Given the description of an element on the screen output the (x, y) to click on. 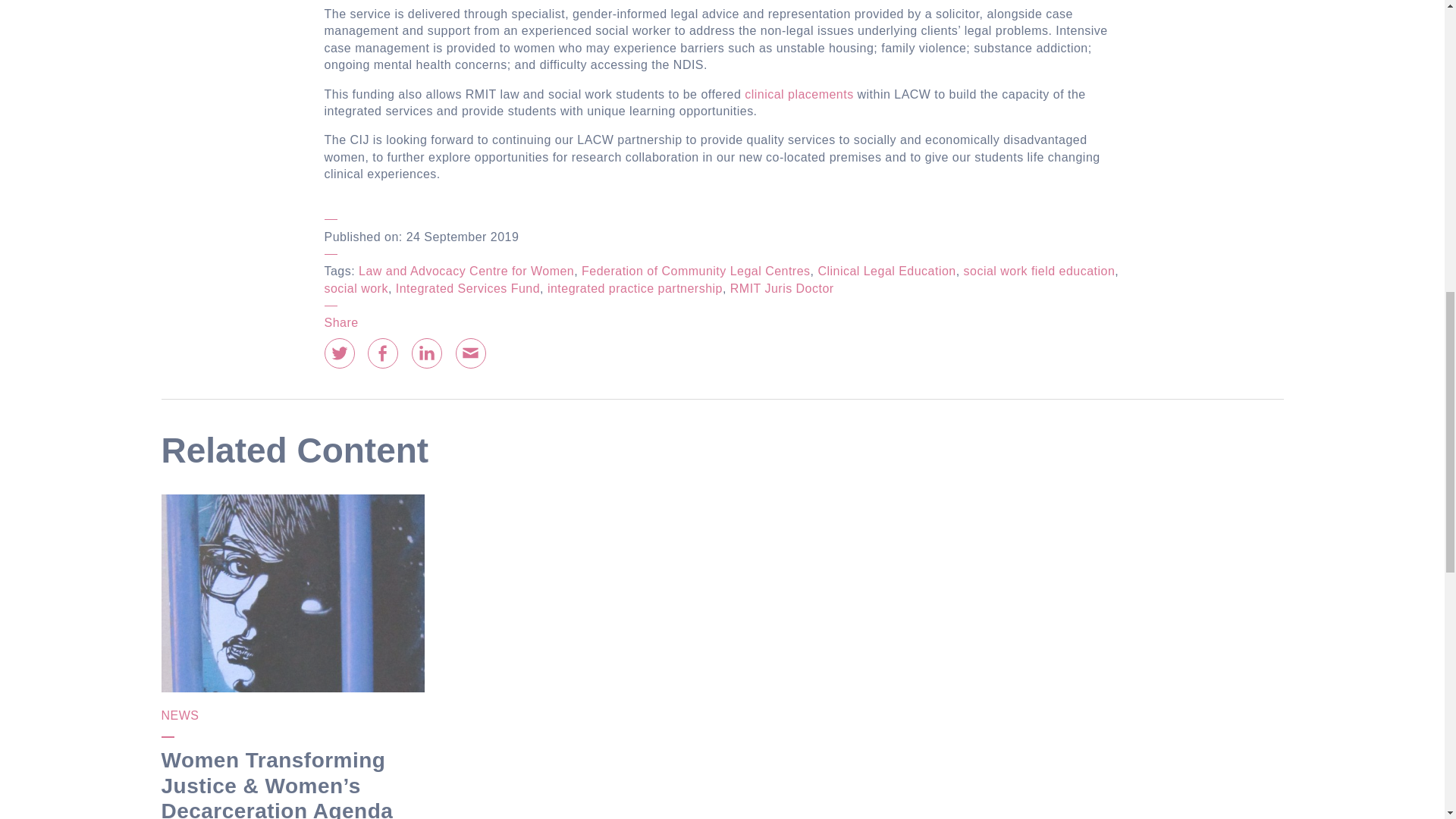
RMIT Juris Doctor (782, 287)
social work (356, 287)
integrated practice partnership (634, 287)
Share on Facebook (382, 353)
Share on LinkedIn (427, 353)
social work field education (1039, 270)
Integrated Services Fund (468, 287)
Clinical Legal Education (885, 270)
Share on Twitter (339, 353)
Share by email (470, 353)
